Given the description of an element on the screen output the (x, y) to click on. 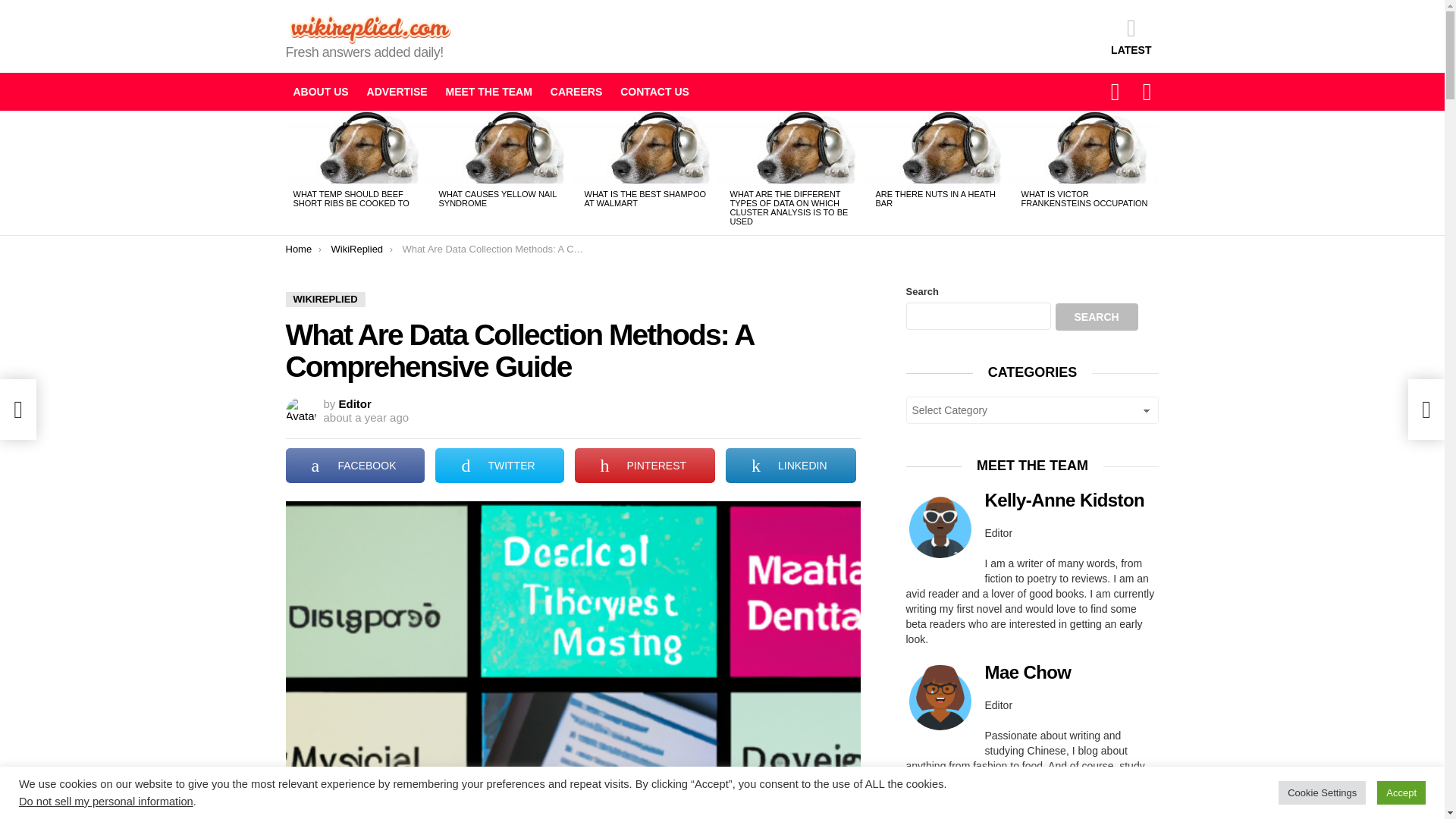
WIKIREPLIED (325, 299)
TWITTER (499, 465)
July 2, 2023, 6:44 pm (366, 418)
LINKEDIN (790, 465)
MEET THE TEAM (489, 91)
LOGIN (1146, 91)
FACEBOOK (355, 465)
Posts by Editor (355, 403)
CONTACT US (654, 91)
ABOUT US (320, 91)
Share on Twitter (499, 465)
what is victor frankensteins occupation (1085, 146)
WHAT IS THE BEST SHAMPOO AT WALMART (644, 198)
WHAT CAUSES YELLOW NAIL SYNDROME (497, 198)
